Given the description of an element on the screen output the (x, y) to click on. 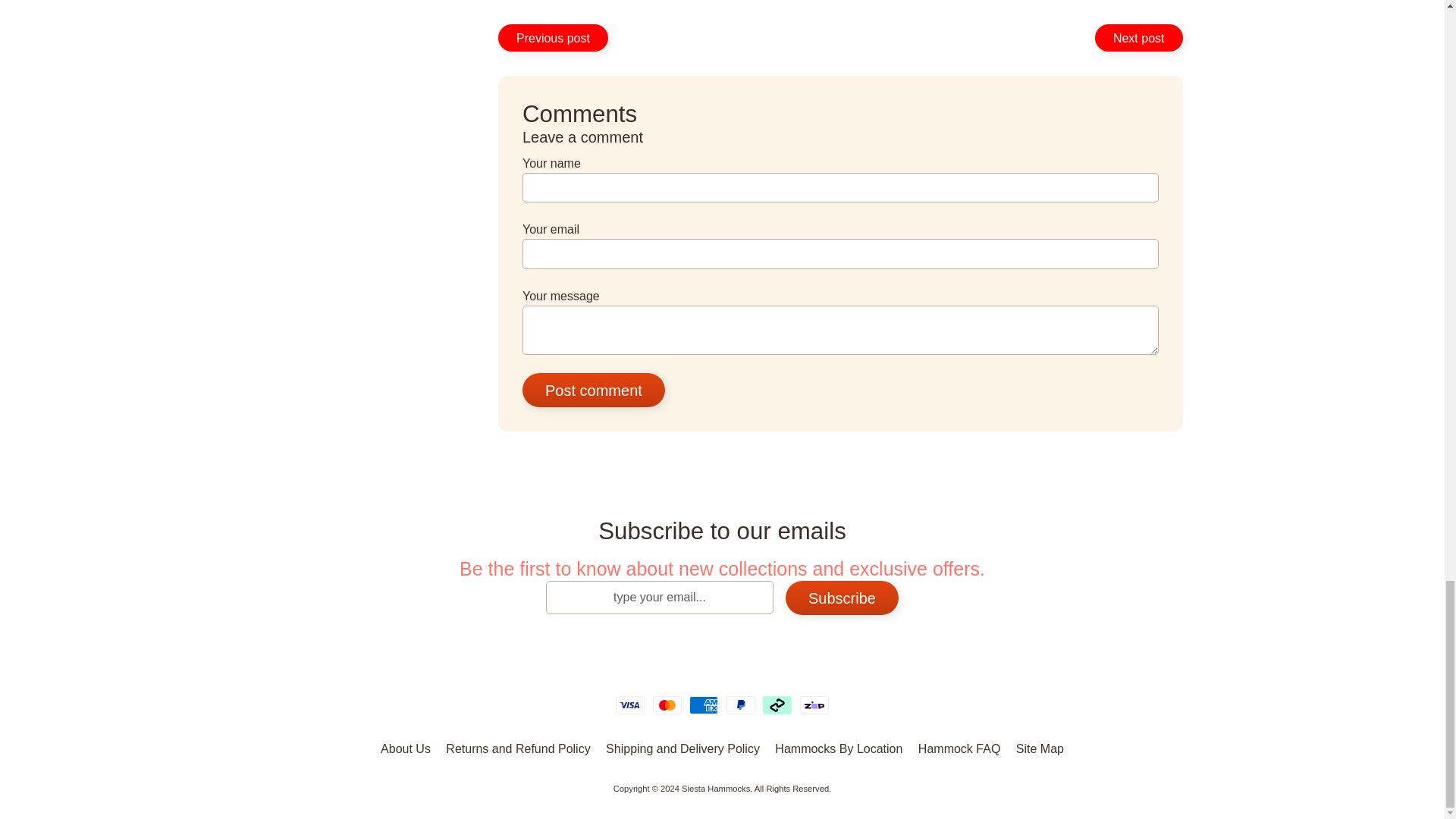
American Express (702, 705)
Mastercard (666, 705)
PayPal (740, 705)
Zip (813, 705)
Visa (630, 705)
Afterpay (777, 705)
Post comment (593, 390)
